Given the description of an element on the screen output the (x, y) to click on. 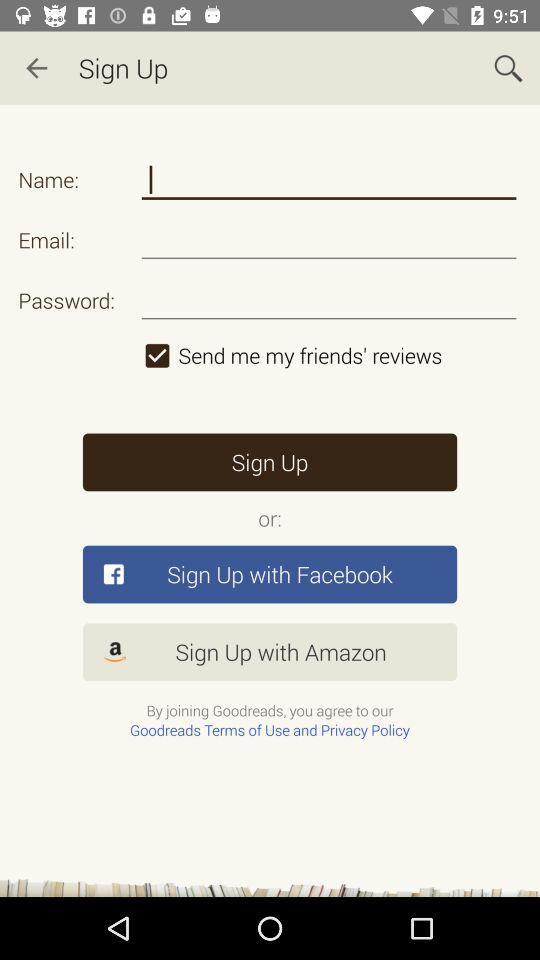
the user enters their email address here (328, 240)
